Given the description of an element on the screen output the (x, y) to click on. 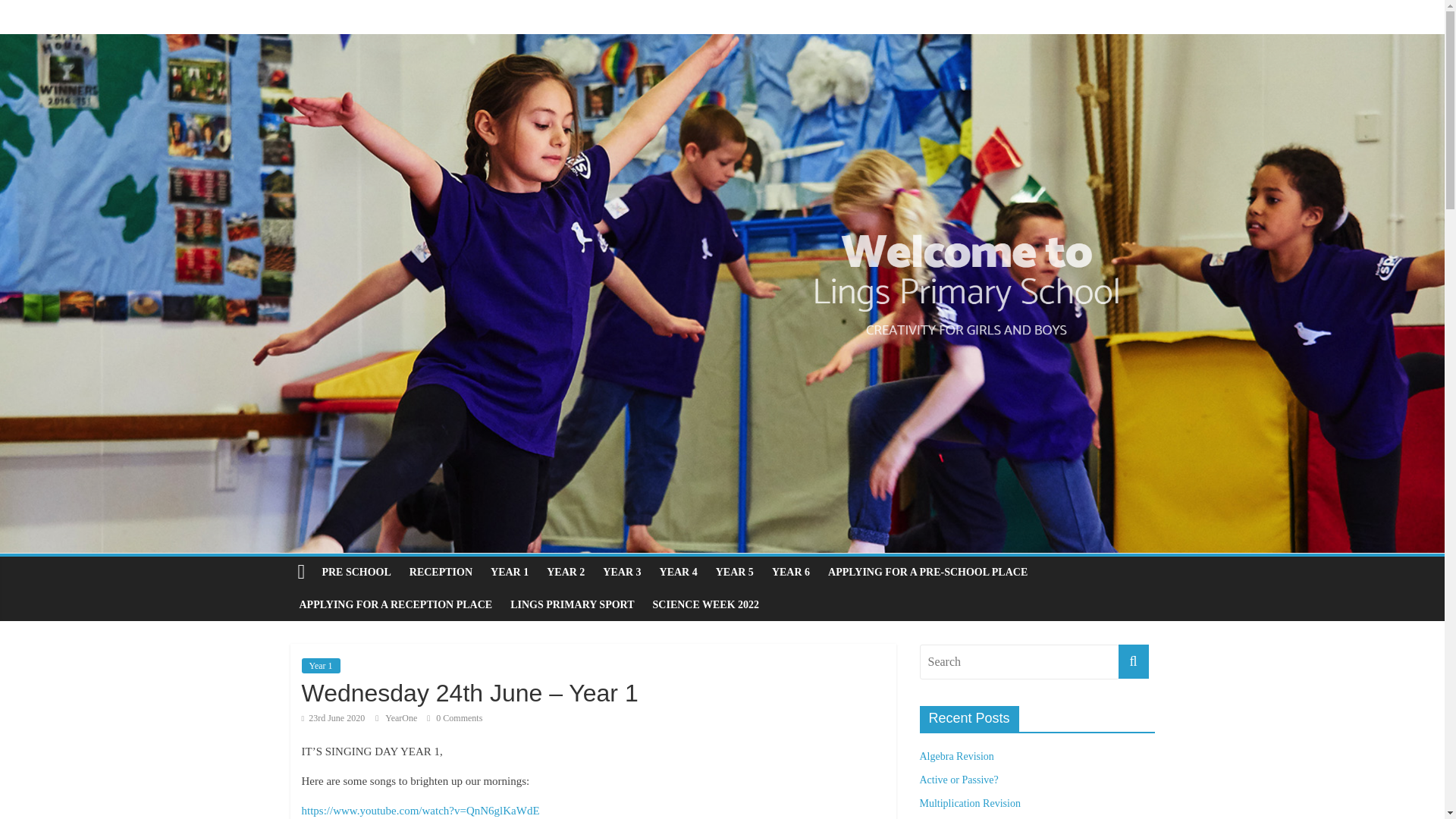
YEAR 6 (790, 572)
YEAR 2 (565, 572)
YearOne (402, 717)
3:15 pm (333, 717)
0 Comments (453, 717)
YEAR 3 (621, 572)
APPLYING FOR A PRE-SCHOOL PLACE (927, 572)
LINGS PRIMARY SPORT (571, 604)
YearOne (402, 717)
Year 1 (320, 665)
Algebra Revision (955, 756)
RECEPTION (440, 572)
YEAR 4 (678, 572)
PRE SCHOOL (355, 572)
SCIENCE WEEK 2022 (705, 604)
